Given the description of an element on the screen output the (x, y) to click on. 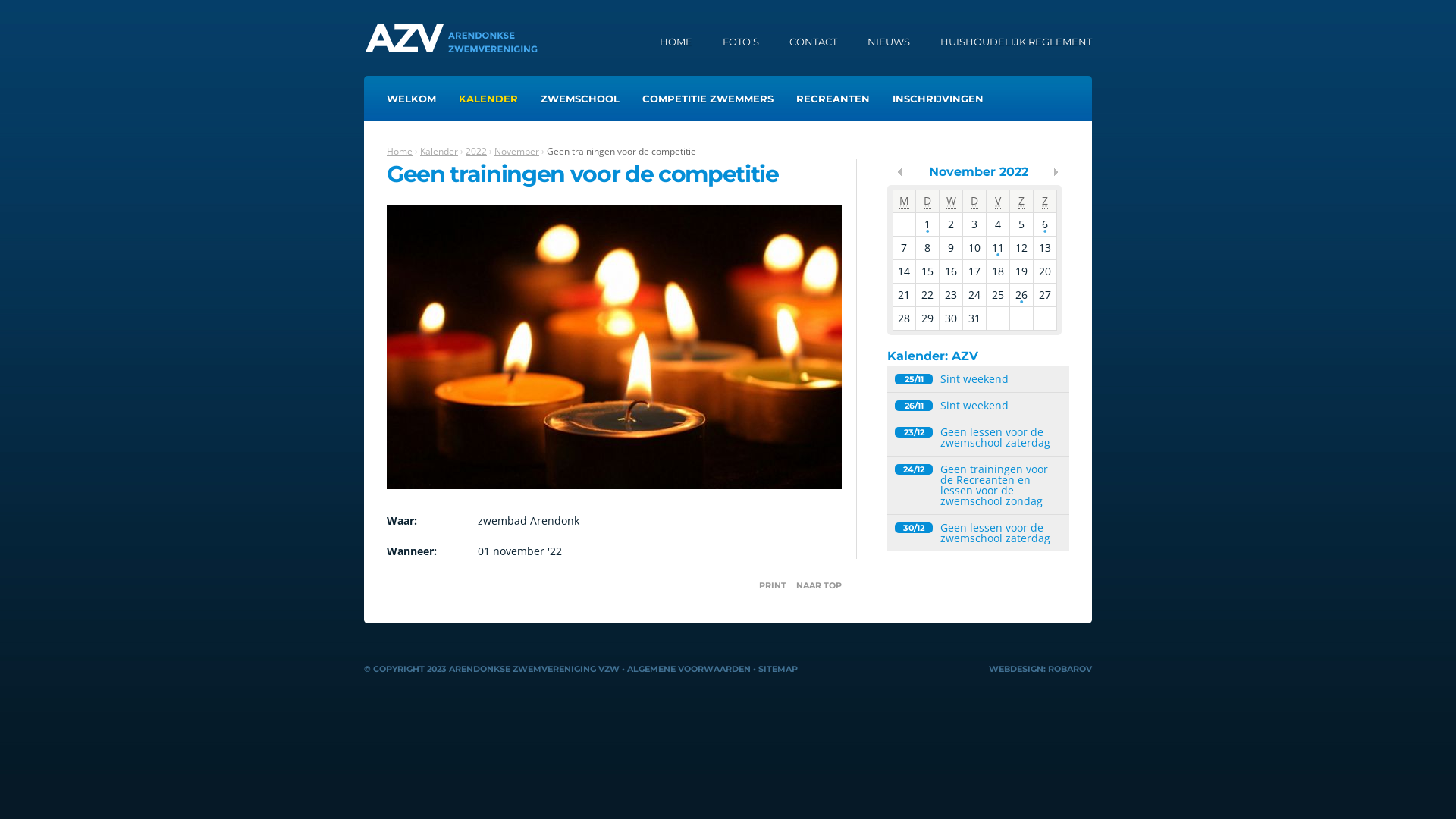
Bekijk volgende maand Element type: text (1056, 172)
HOME Element type: text (675, 41)
Bekijk vorige maand Element type: text (900, 172)
PRINT Element type: text (772, 585)
KALENDER Element type: text (487, 98)
COMPETITIE ZWEMMERS Element type: text (707, 98)
25/11
Sint weekend Element type: text (974, 379)
WEBDESIGN: ROBAROV Element type: text (1040, 668)
23/12
Geen lessen voor de zwemschool zaterdag Element type: text (974, 437)
ALGEMENE VOORWAARDEN Element type: text (688, 668)
SITEMAP Element type: text (777, 668)
NIEUWS Element type: text (888, 41)
NAAR TOP Element type: text (818, 585)
INSCHRIJVINGEN Element type: text (937, 98)
26/11
Sint weekend Element type: text (974, 405)
WELKOM Element type: text (411, 98)
FOTO'S Element type: text (740, 41)
Home Element type: text (399, 150)
November Element type: text (516, 150)
30/12
Geen lessen voor de zwemschool zaterdag Element type: text (974, 532)
Kalender Element type: text (439, 150)
RECREANTEN Element type: text (832, 98)
HUISHOUDELIJK REGLEMENT Element type: text (1016, 41)
AZV-arendonk Element type: text (455, 37)
2022 Element type: text (475, 150)
ZWEMSCHOOL Element type: text (579, 98)
CONTACT Element type: text (813, 41)
